Given the description of an element on the screen output the (x, y) to click on. 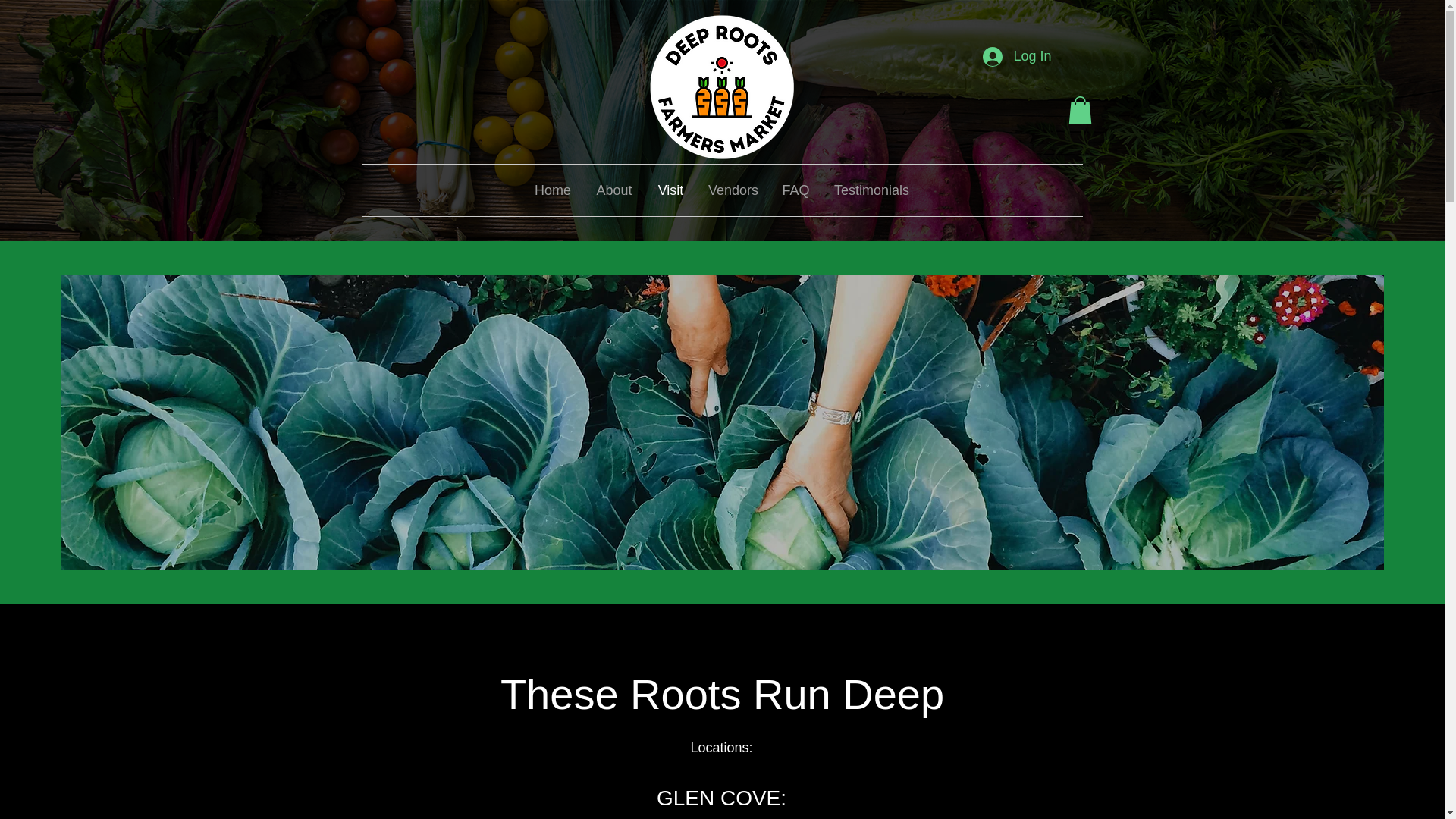
About (614, 190)
Log In (1016, 56)
Visit (670, 190)
Home (552, 190)
Vendors (732, 190)
Testimonials (871, 190)
FAQ (795, 190)
